Given the description of an element on the screen output the (x, y) to click on. 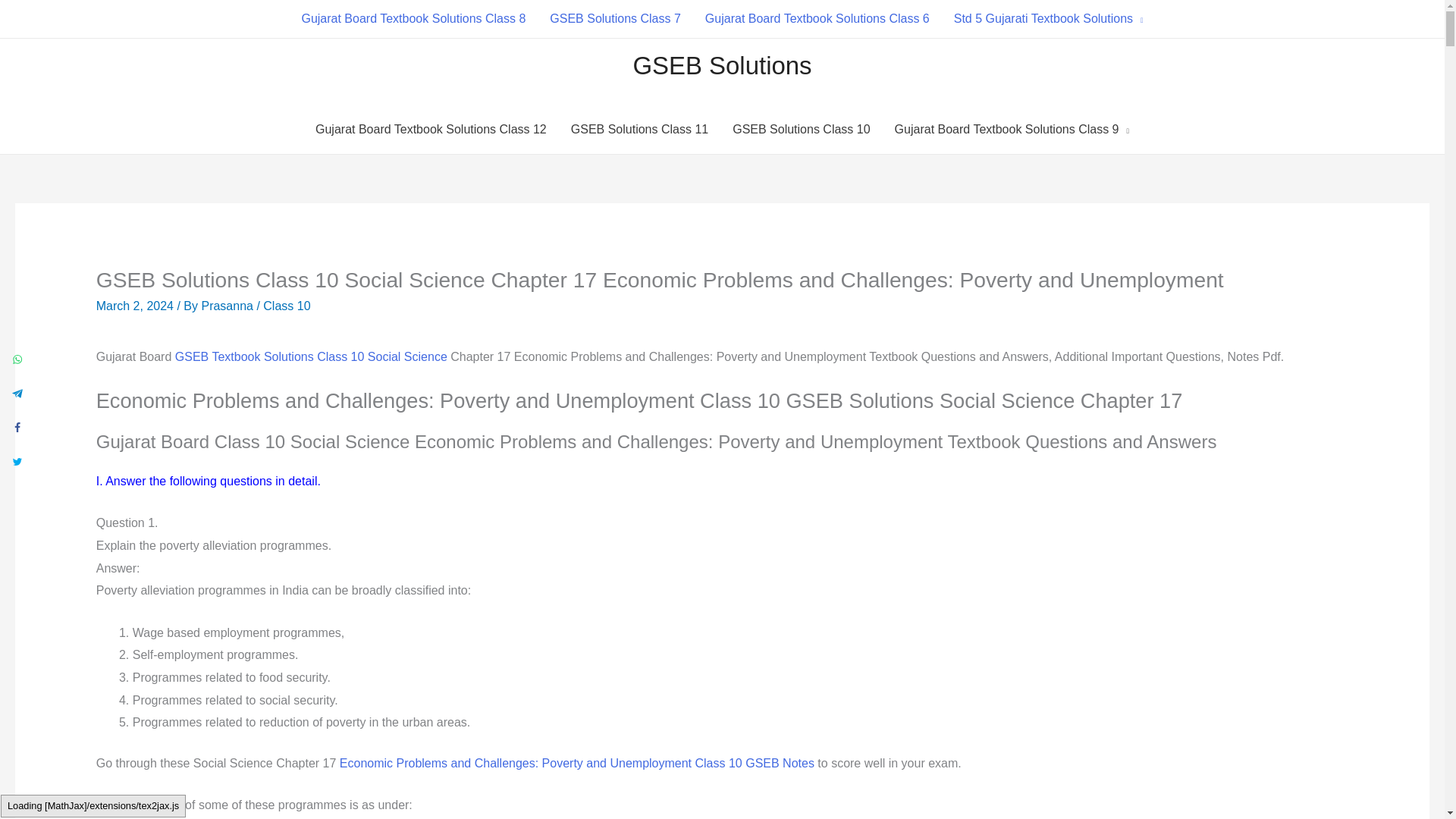
GSEB Solutions Class 10 (801, 129)
Share on WhatsApp (16, 358)
Gujarat Board Textbook Solutions Class 8 (412, 18)
GSEB Textbook Solutions Class 10 Social Science (310, 356)
Share on Twitter (16, 460)
GSEB Solutions Class 11 (639, 129)
GSEB Solutions (720, 65)
Class 10 (286, 305)
Share on Facebook (16, 426)
